Given the description of an element on the screen output the (x, y) to click on. 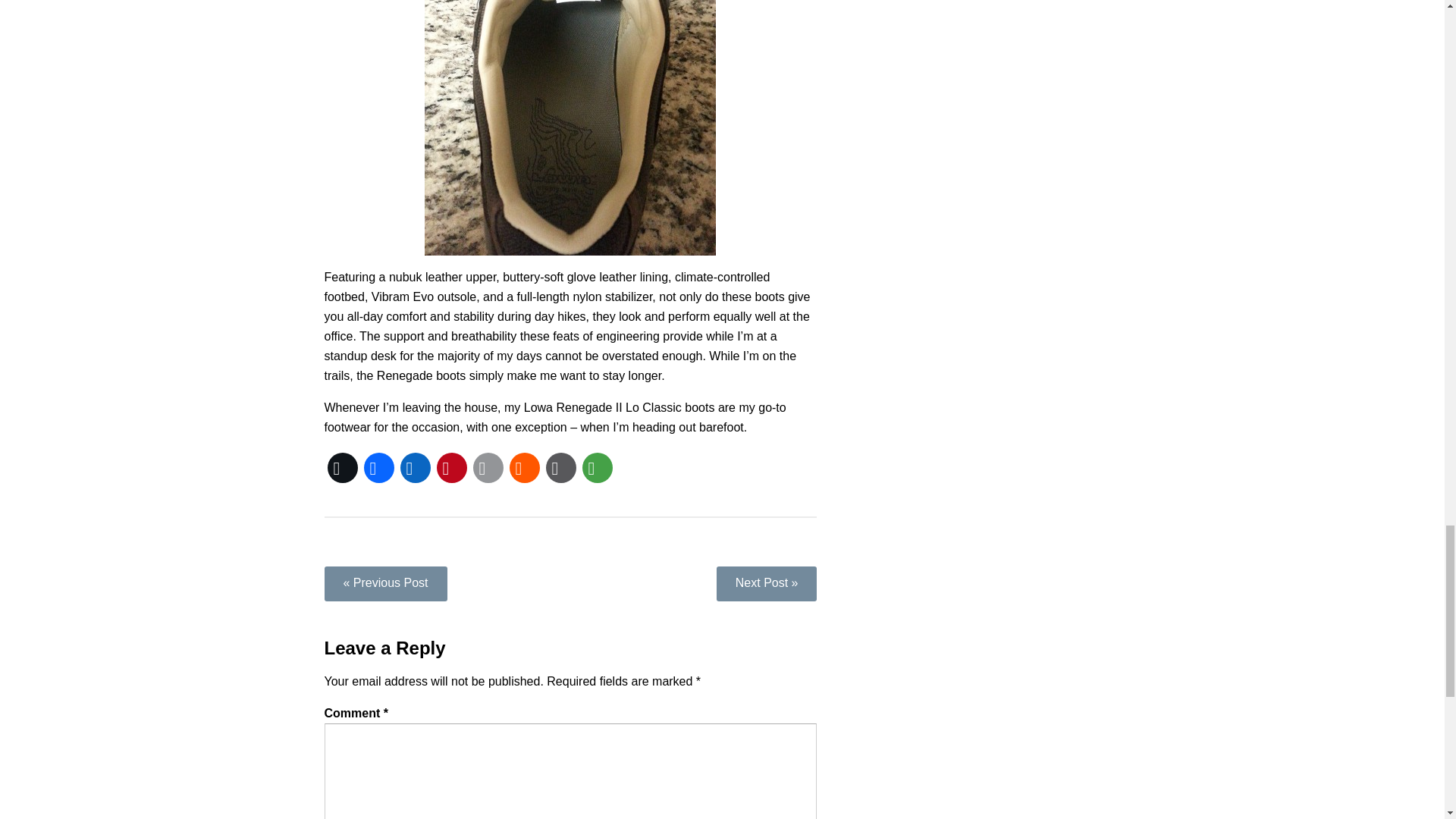
Email This (488, 467)
WordPress Blog (561, 467)
Pinterest (451, 467)
Facebook (379, 467)
Reddit (524, 467)
LinkedIn (415, 467)
More Options (597, 467)
